Given the description of an element on the screen output the (x, y) to click on. 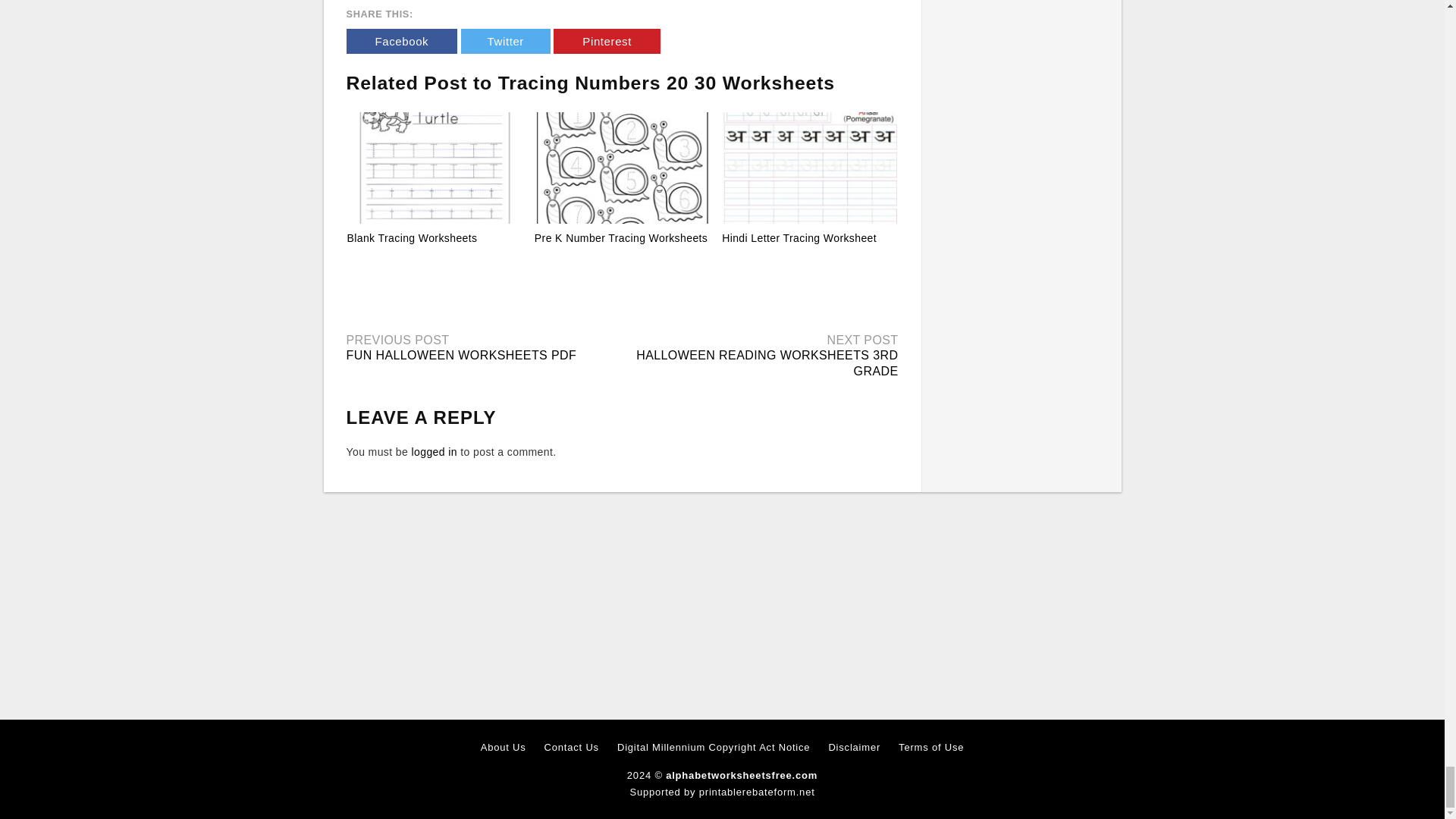
Facebook (401, 41)
Twitter (505, 41)
Pinterest (607, 41)
